Given the description of an element on the screen output the (x, y) to click on. 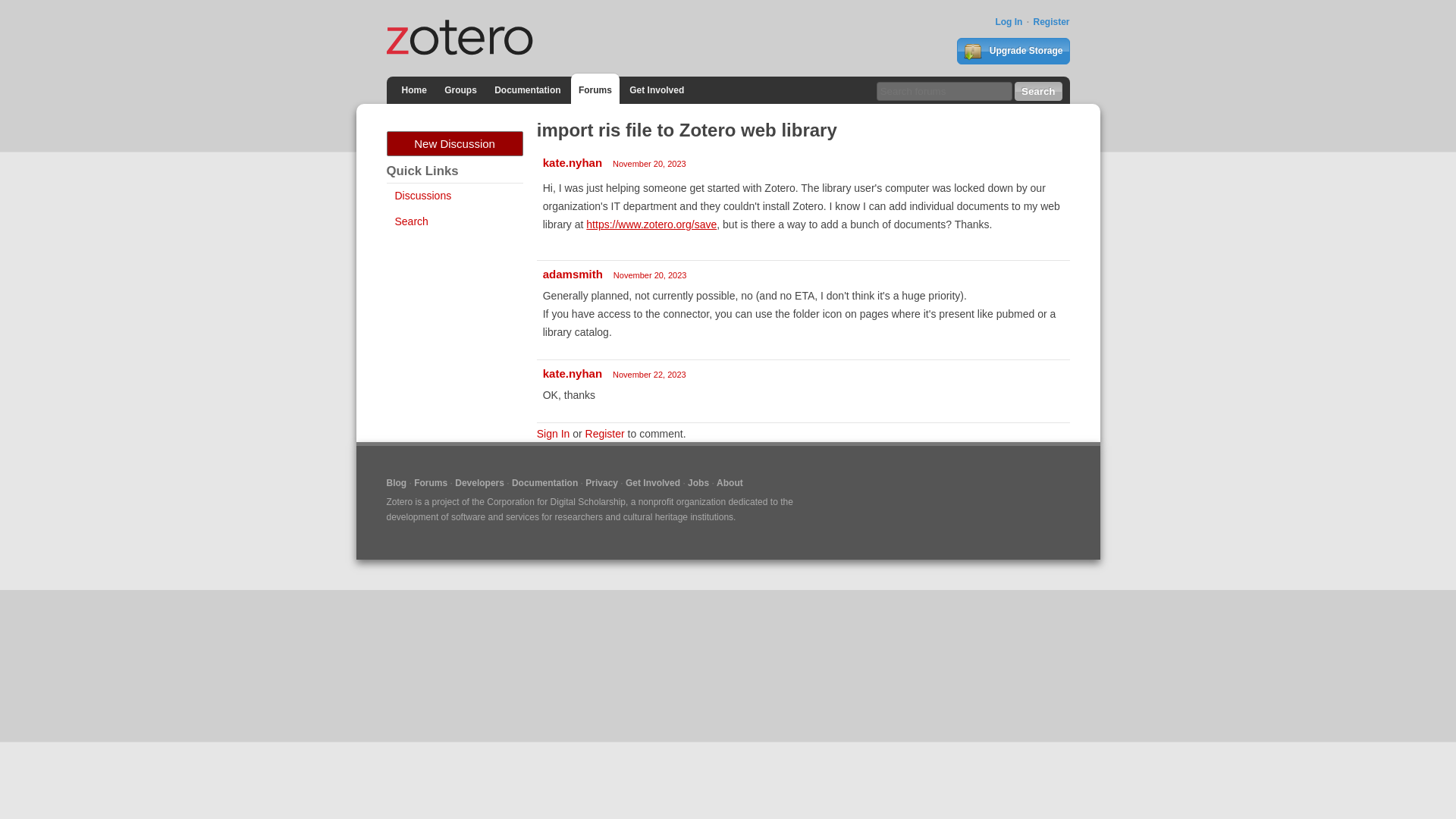
Get Involved (652, 482)
2023-11-22 23:00:29 (648, 374)
Developers (478, 482)
Discussions (422, 195)
Corporation for Digital Scholarship (556, 501)
kate.nyhan (572, 162)
Get Involved (656, 88)
November 20, 2023 (649, 275)
November 20, 2023 (648, 163)
Jobs (698, 482)
